Given the description of an element on the screen output the (x, y) to click on. 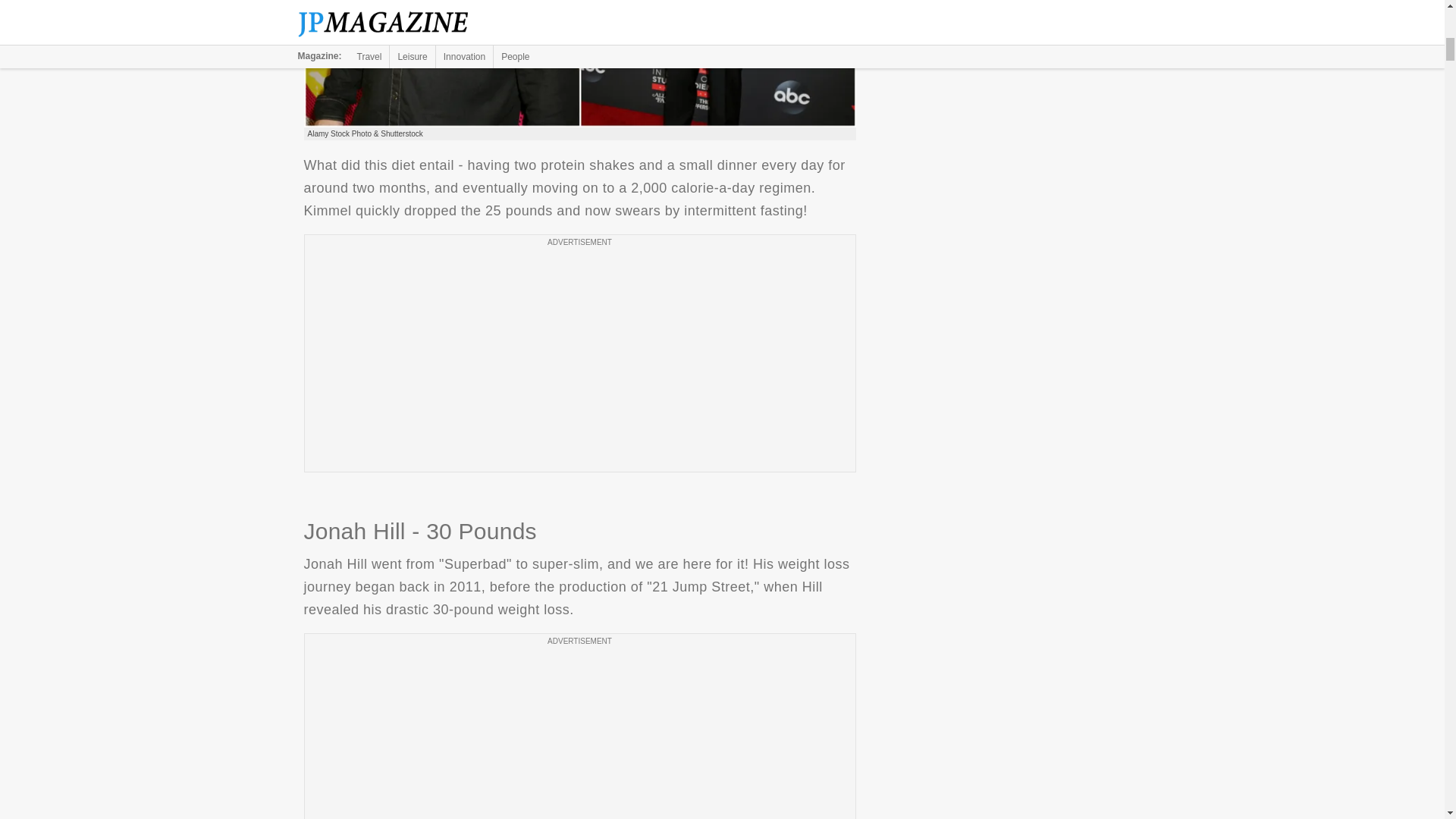
Jimmy Kimmel - 25 Pounds (579, 63)
